Given the description of an element on the screen output the (x, y) to click on. 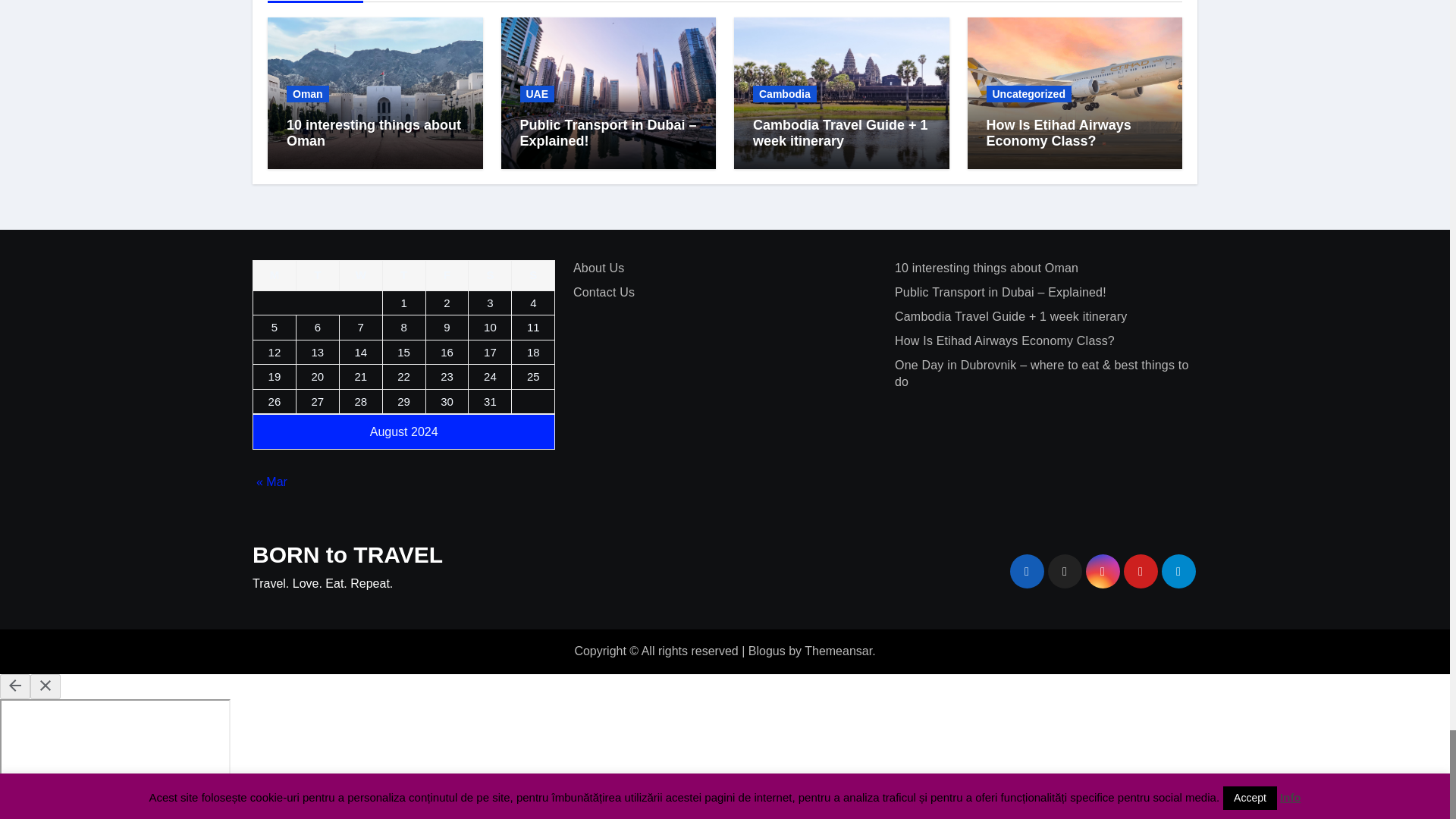
Sunday (533, 276)
Friday (446, 276)
Permalink to: How Is Etihad Airways Economy Class? (1058, 133)
Thursday (403, 276)
Wednesday (360, 276)
Tuesday (317, 276)
Saturday (490, 276)
Permalink to: 10 interesting things about Oman (373, 133)
Monday (275, 276)
